Given the description of an element on the screen output the (x, y) to click on. 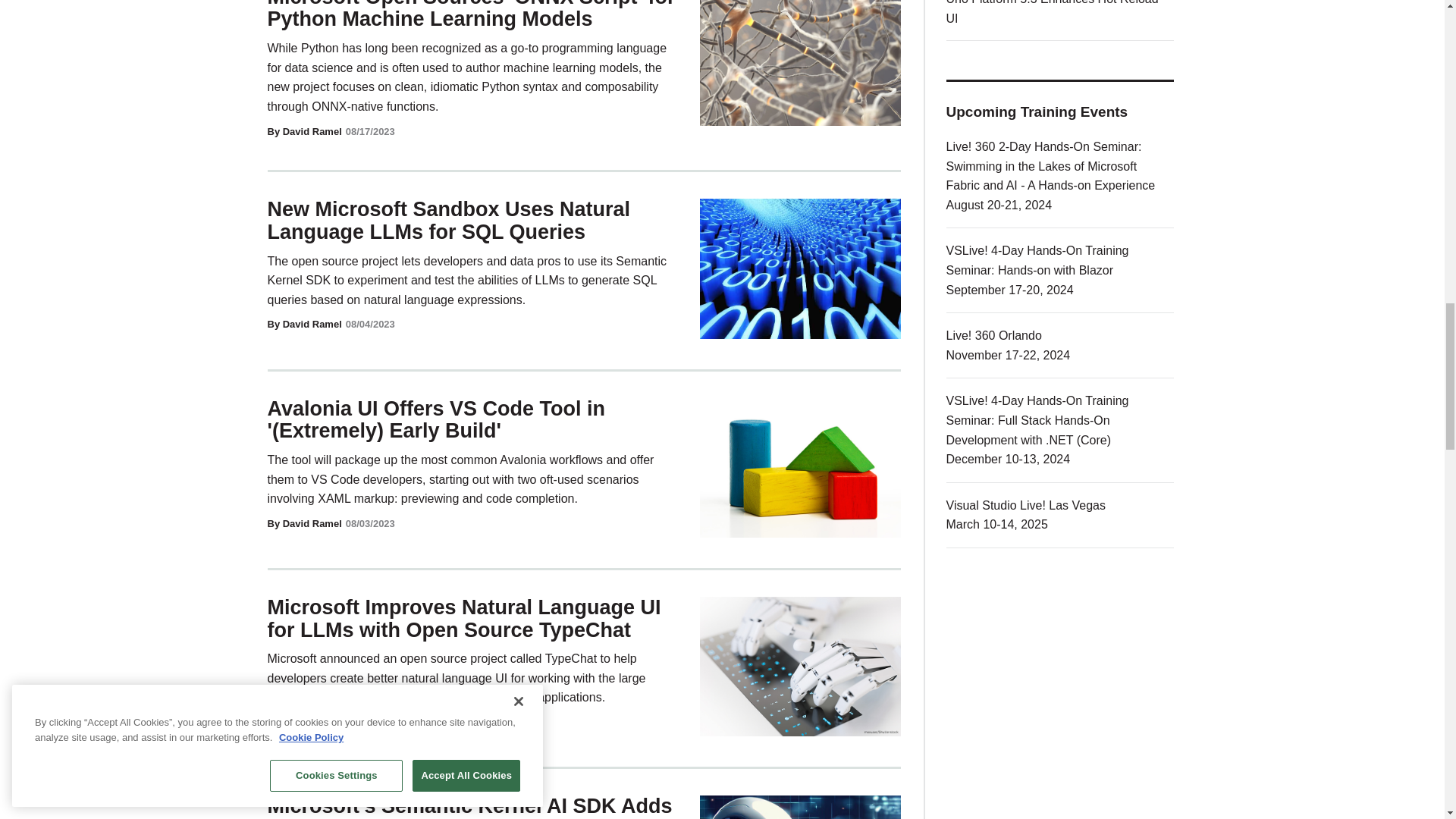
3rd party ad content (1059, 680)
3rd party ad content (1059, 816)
